Given the description of an element on the screen output the (x, y) to click on. 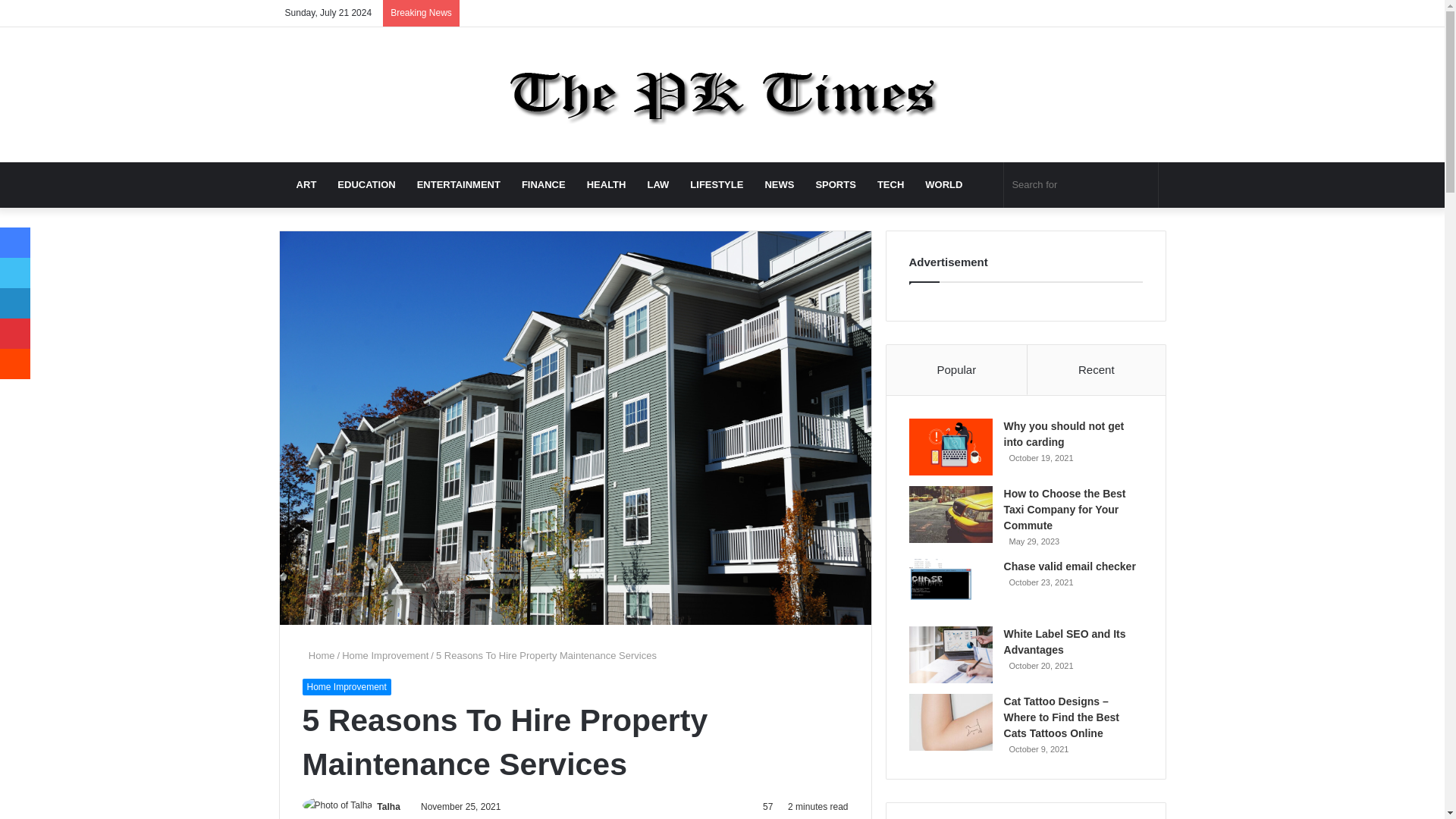
Home Improvement (345, 686)
Talha (387, 806)
Talha (387, 806)
TECH (890, 185)
LAW (657, 185)
Search for (1080, 185)
ENTERTAINMENT (458, 185)
EDUCATION (366, 185)
Home (317, 655)
SPORTS (835, 185)
FINANCE (543, 185)
ART (306, 185)
HEALTH (606, 185)
WORLD (943, 185)
Home Improvement (385, 655)
